Given the description of an element on the screen output the (x, y) to click on. 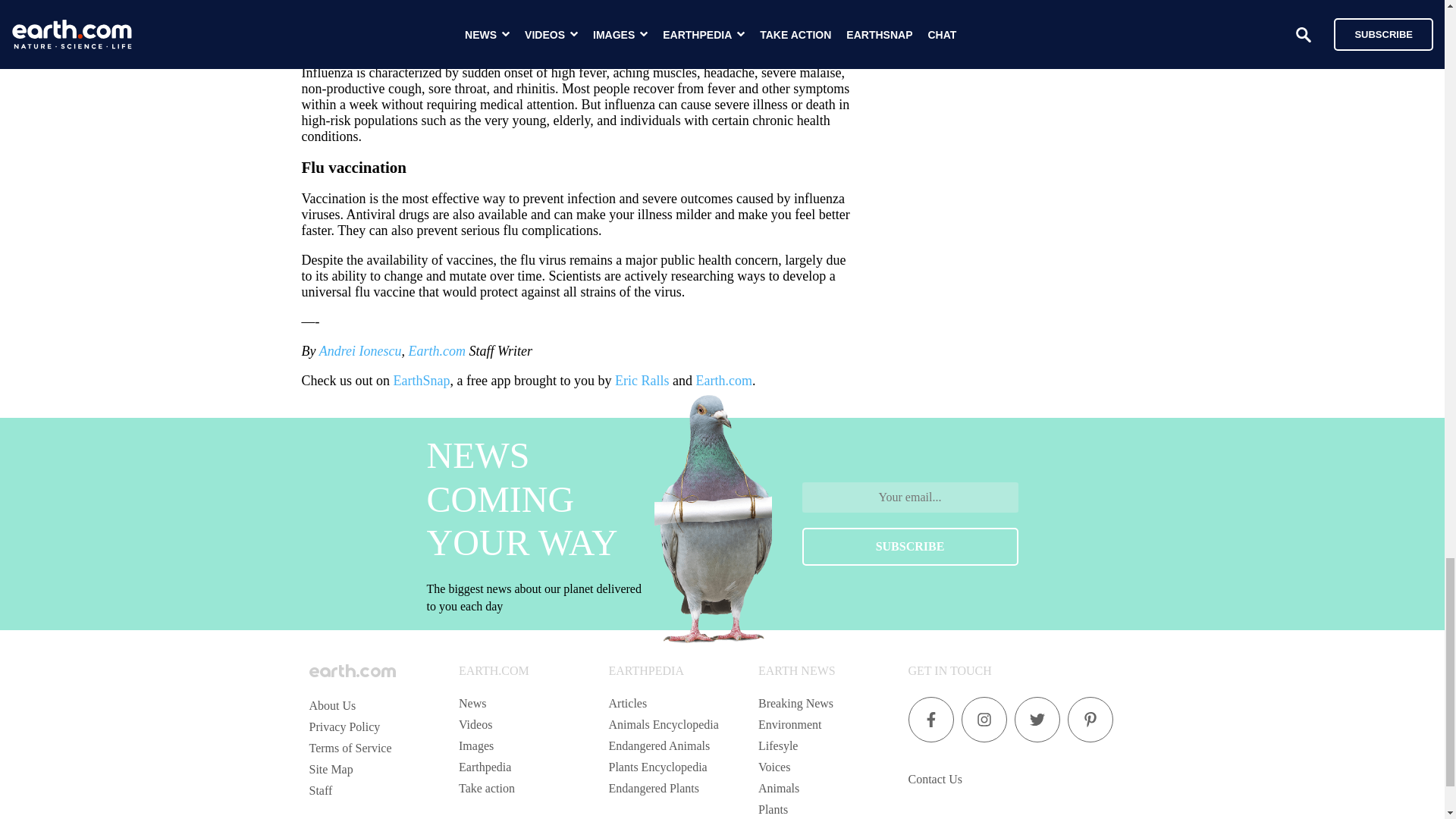
Earth.com (436, 350)
Eric Ralls (641, 380)
Andrei Ionescu (359, 350)
EarthSnap (421, 380)
Earth.com (723, 380)
